Given the description of an element on the screen output the (x, y) to click on. 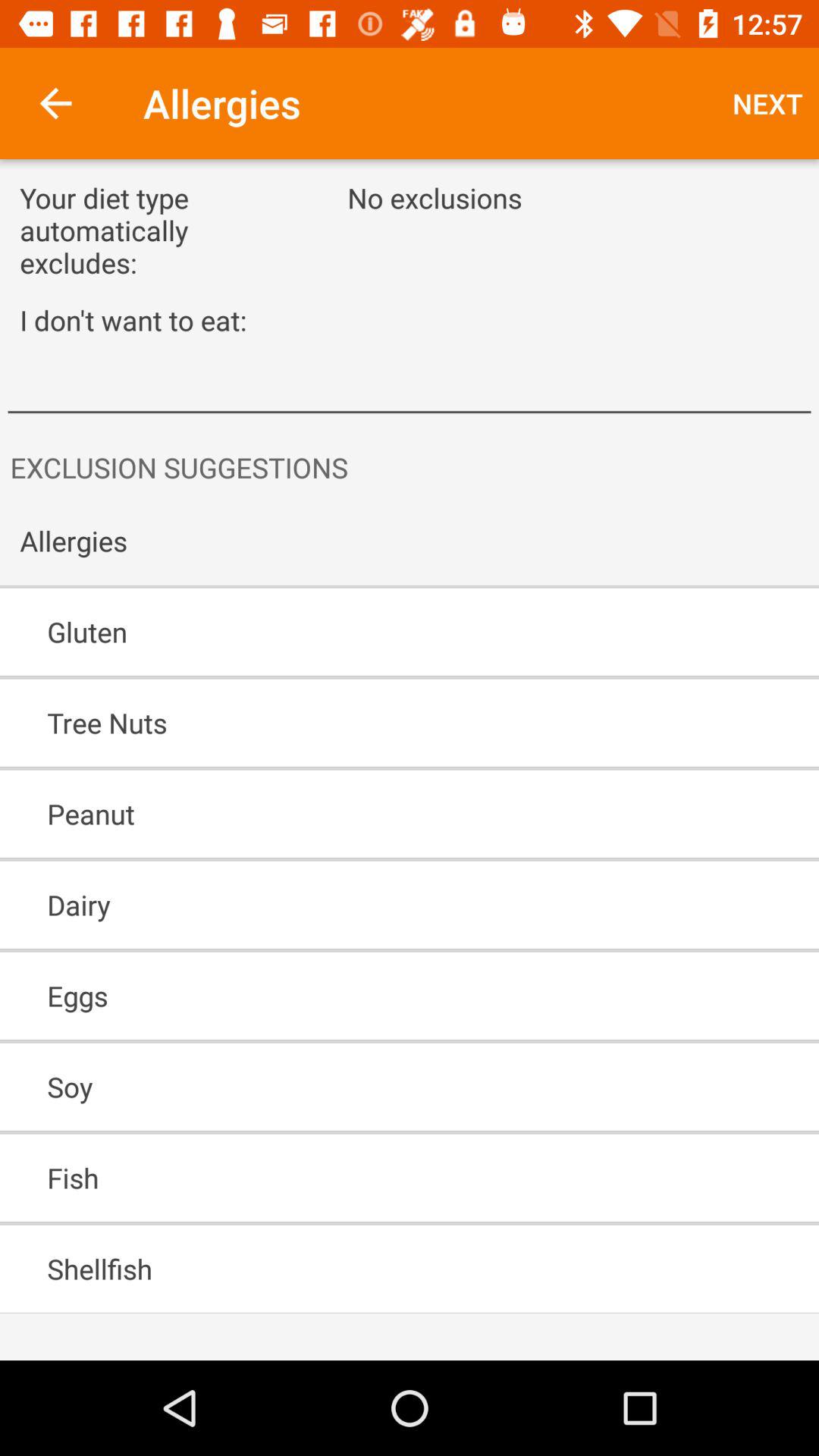
jump until eggs (365, 995)
